Given the description of an element on the screen output the (x, y) to click on. 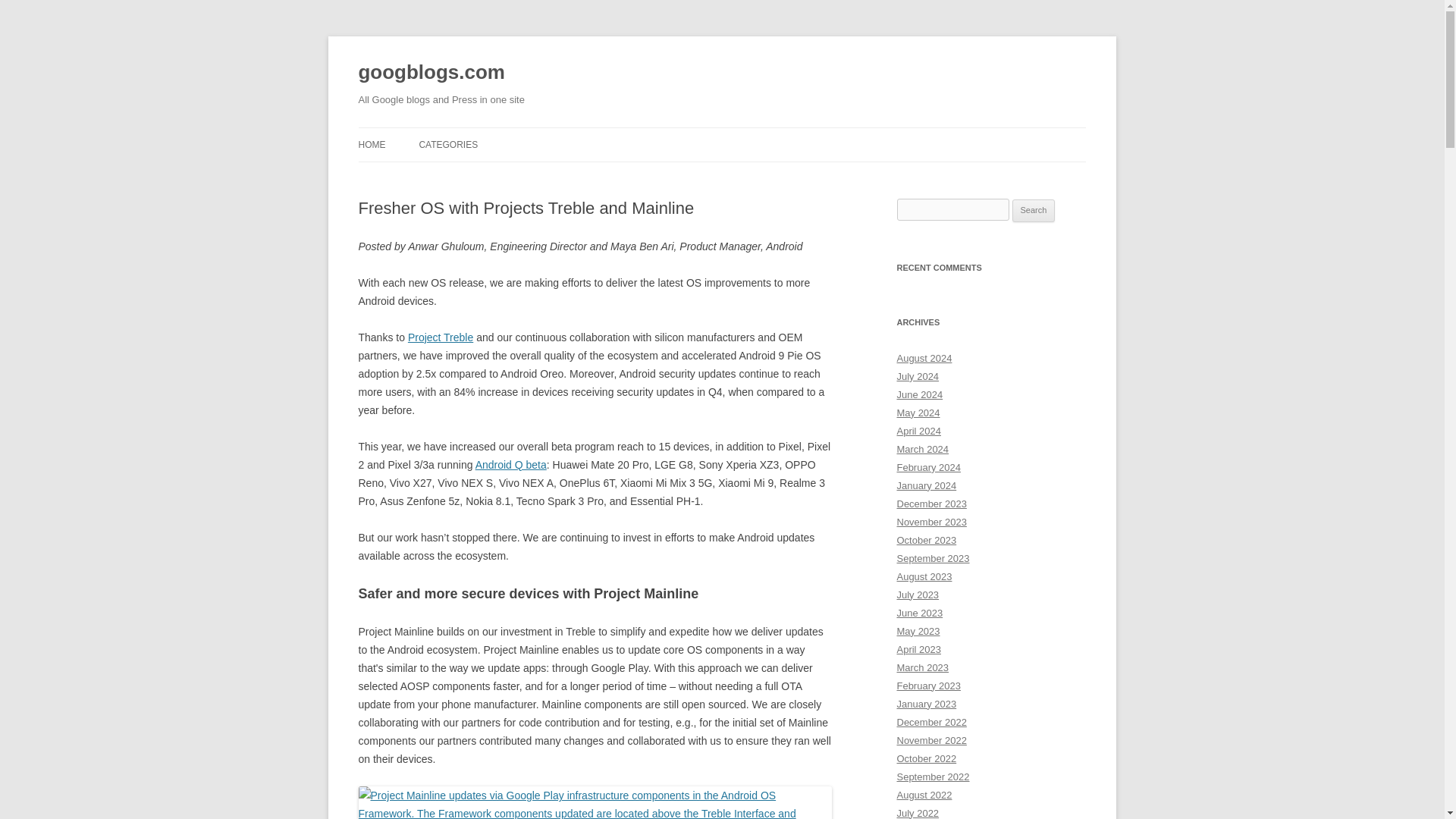
GOOGLE ADS DEVELOPER BLOG (494, 176)
Android Q beta (511, 464)
Project Treble (440, 337)
googblogs.com (430, 72)
CATEGORIES (448, 144)
Search (1033, 210)
Search (1033, 210)
